Given the description of an element on the screen output the (x, y) to click on. 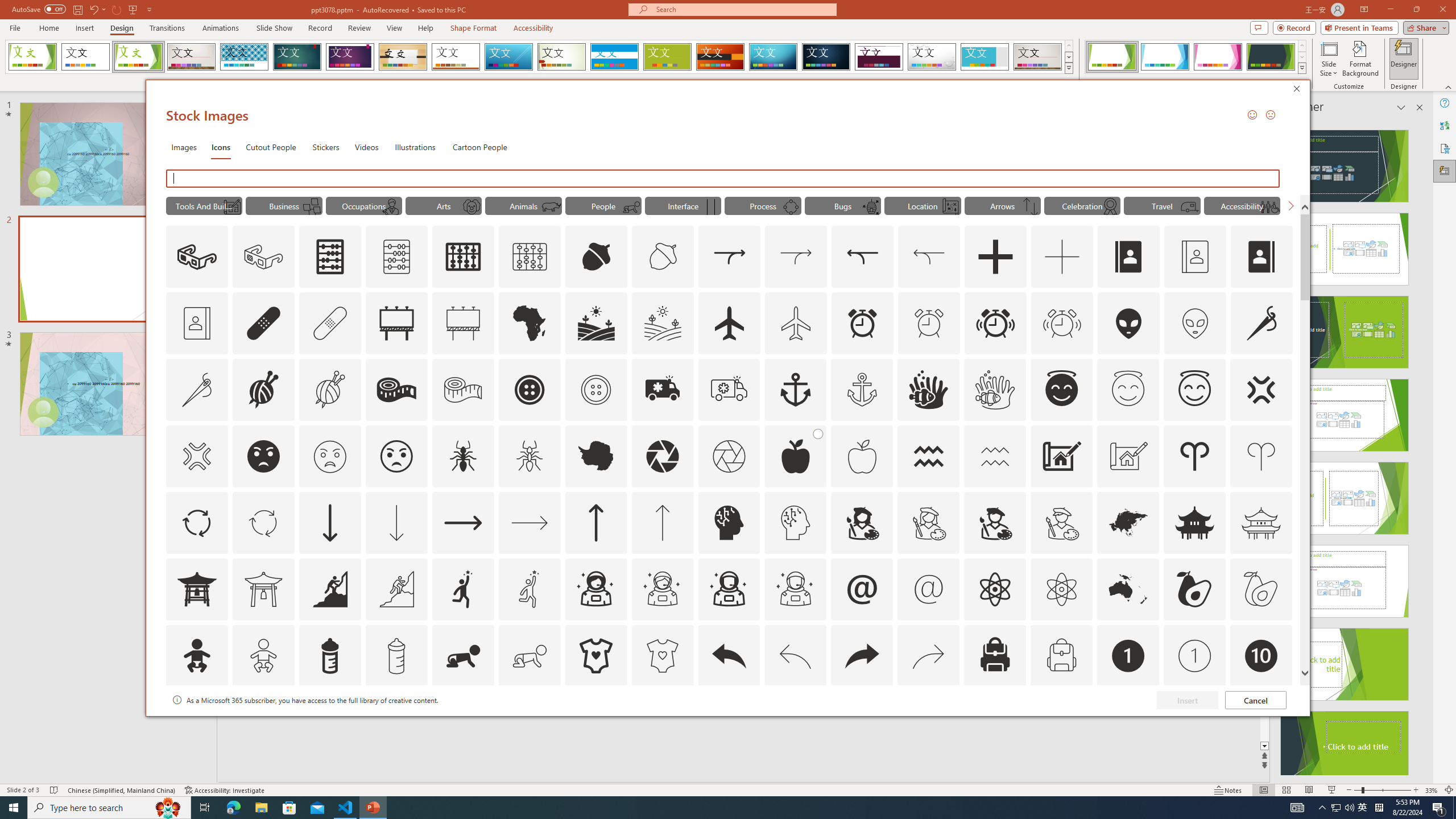
Images (183, 146)
Videos (366, 146)
AutomationID: Icons_AstronautFemale_M (662, 588)
AutomationID: Icons_Antarctica (595, 455)
Ion Boardroom (350, 56)
AutomationID: Icons_BabyOnesie_M (662, 655)
AutomationID: Icons_3dGlasses (197, 256)
AutomationID: Icons_Apple (795, 455)
